Given the description of an element on the screen output the (x, y) to click on. 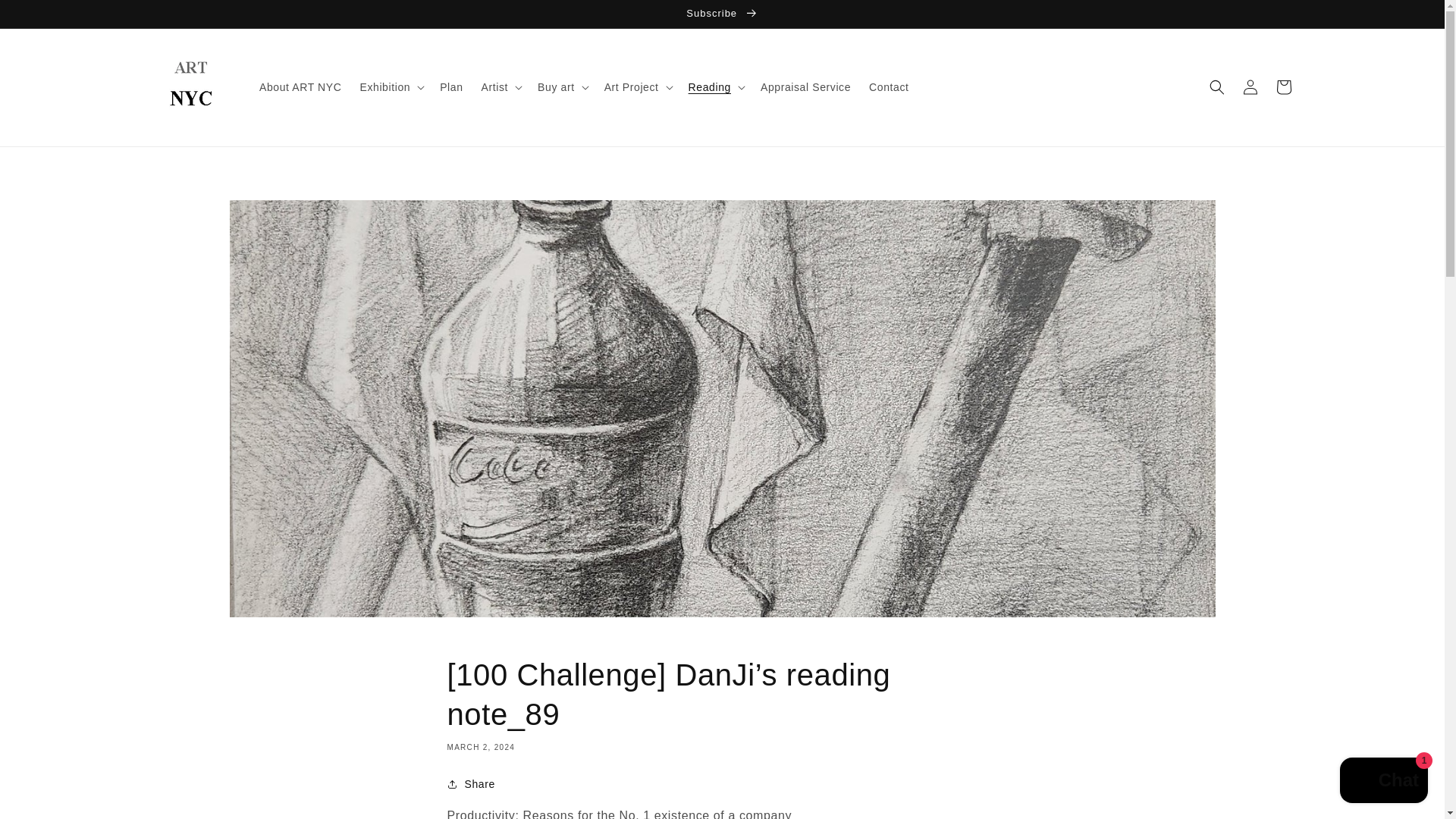
Skip to content (45, 16)
Shopify online store chat (1383, 781)
